Given the description of an element on the screen output the (x, y) to click on. 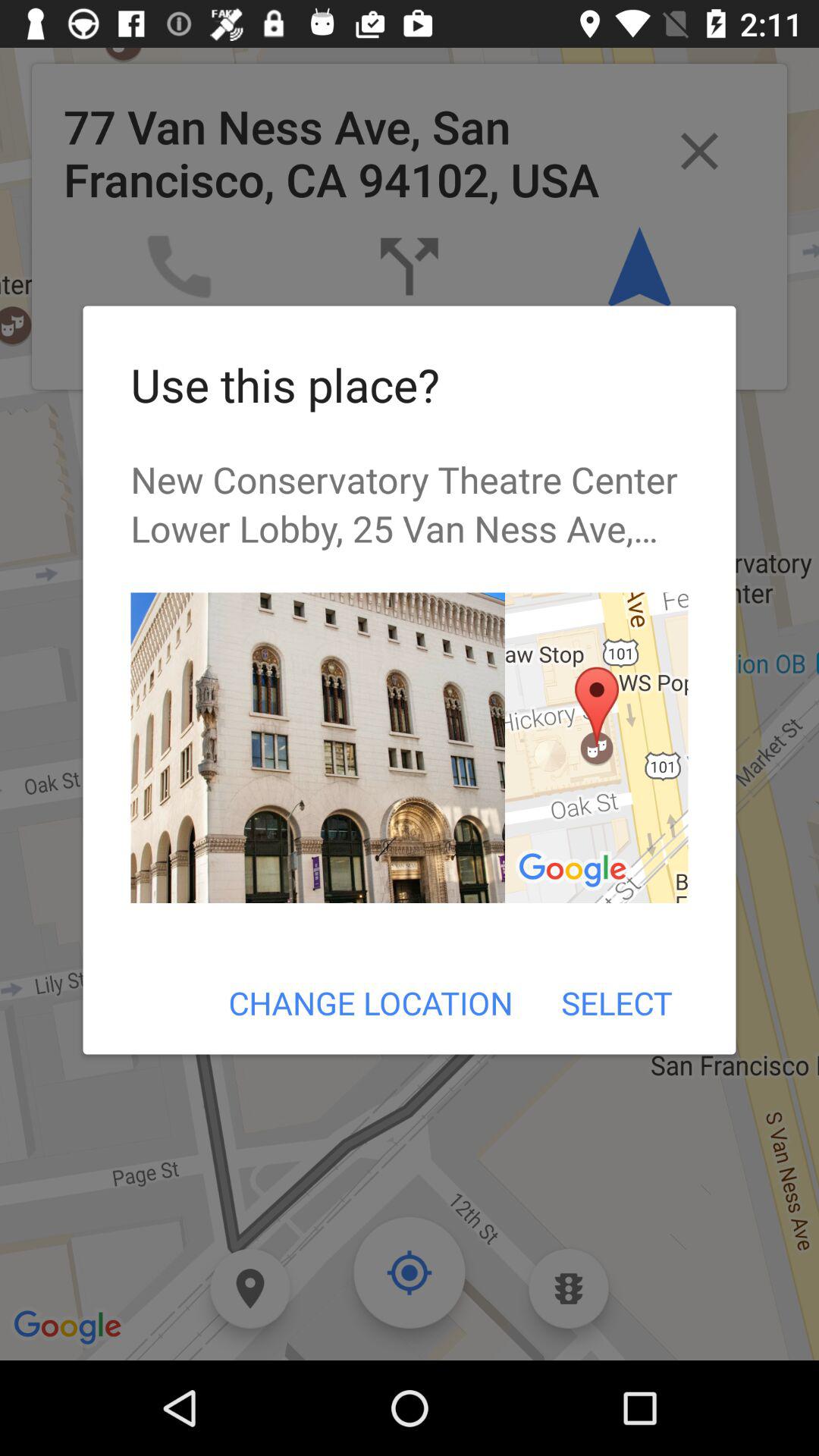
scroll until select item (616, 1002)
